Given the description of an element on the screen output the (x, y) to click on. 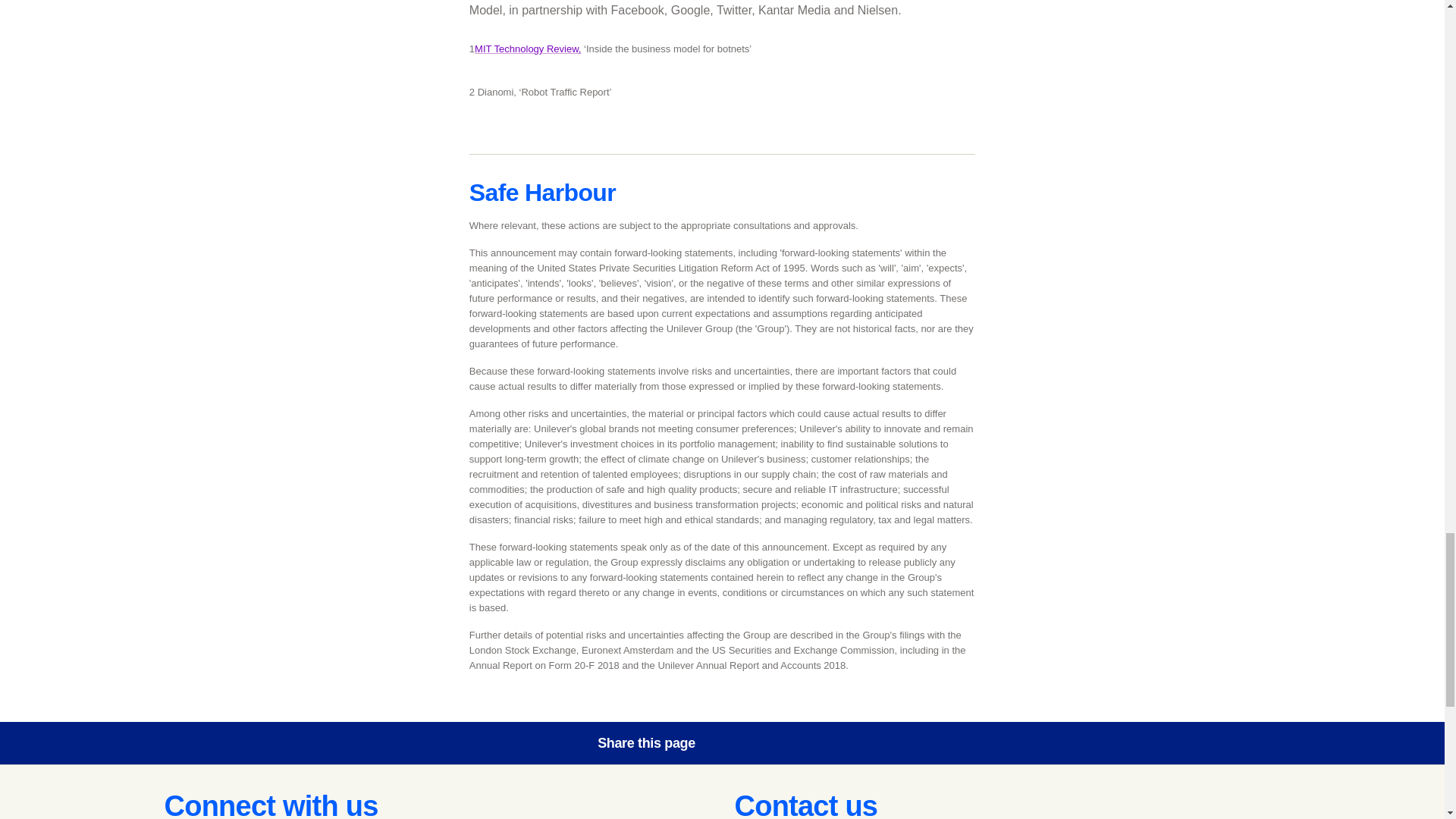
MIT Technology Review, (527, 48)
Share this page on Facebook (740, 743)
Share this page on Linked In (825, 743)
Share this page on X (782, 743)
Share this page on E-mail (868, 743)
